Given the description of an element on the screen output the (x, y) to click on. 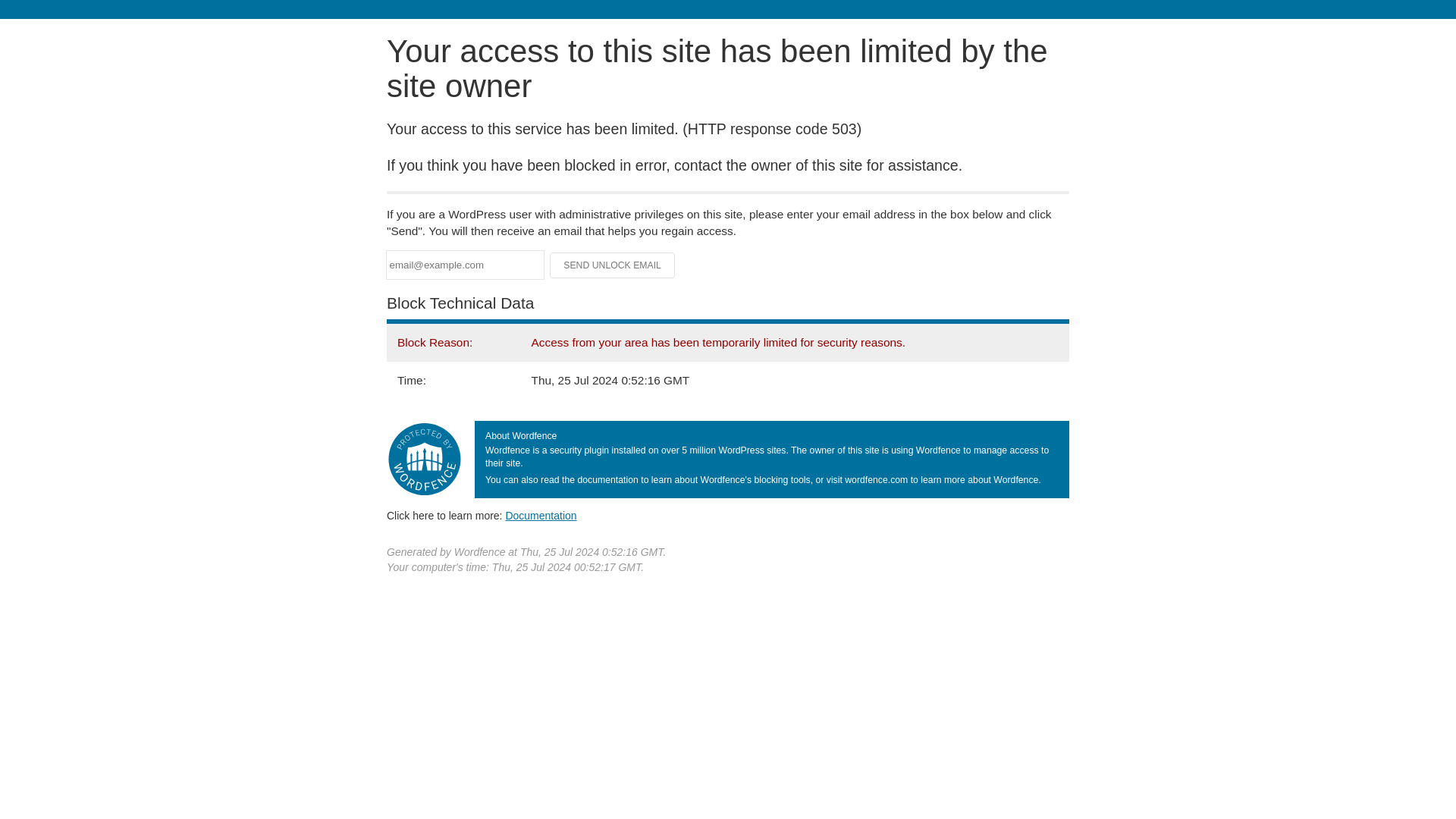
Send Unlock Email (612, 265)
Send Unlock Email (612, 265)
Documentation (540, 515)
